Given the description of an element on the screen output the (x, y) to click on. 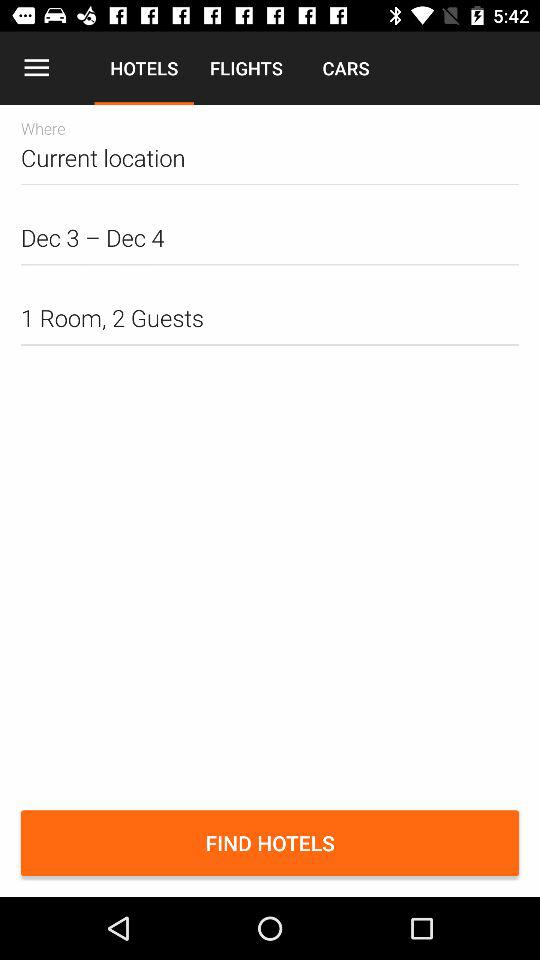
select the icon next to the hotels icon (36, 68)
